Given the description of an element on the screen output the (x, y) to click on. 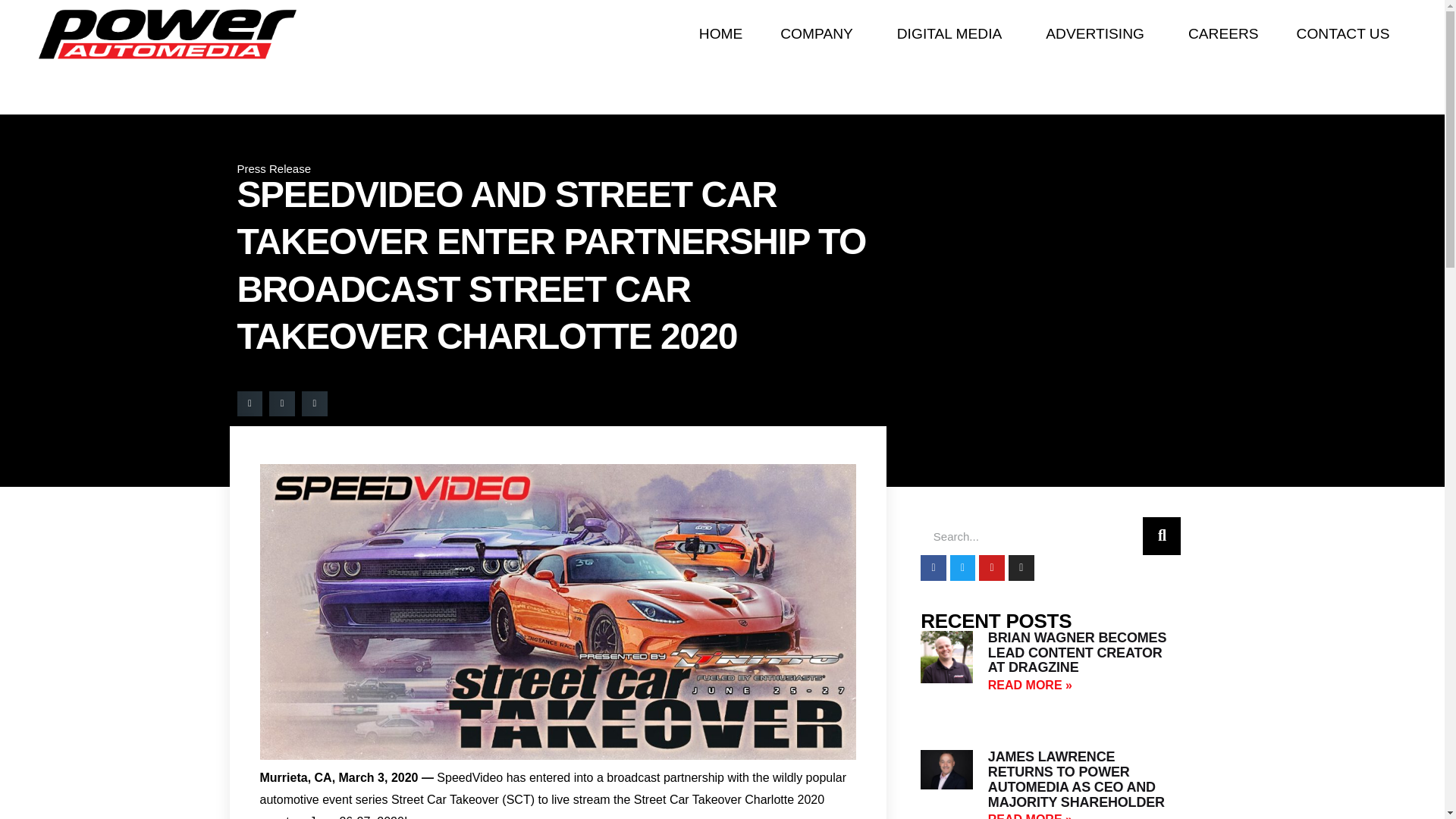
Search (1031, 535)
CAREERS (1223, 34)
BRIAN WAGNER BECOMES LEAD CONTENT CREATOR AT DRAGZINE (1077, 652)
SpeedVideo (469, 777)
Press Release (273, 168)
DIGITAL MEDIA (952, 34)
HOME (720, 34)
ADVERTISING (1097, 34)
CONTACT US (1343, 34)
Search (1161, 535)
Street Car Takeover (445, 799)
COMPANY (819, 34)
